Given the description of an element on the screen output the (x, y) to click on. 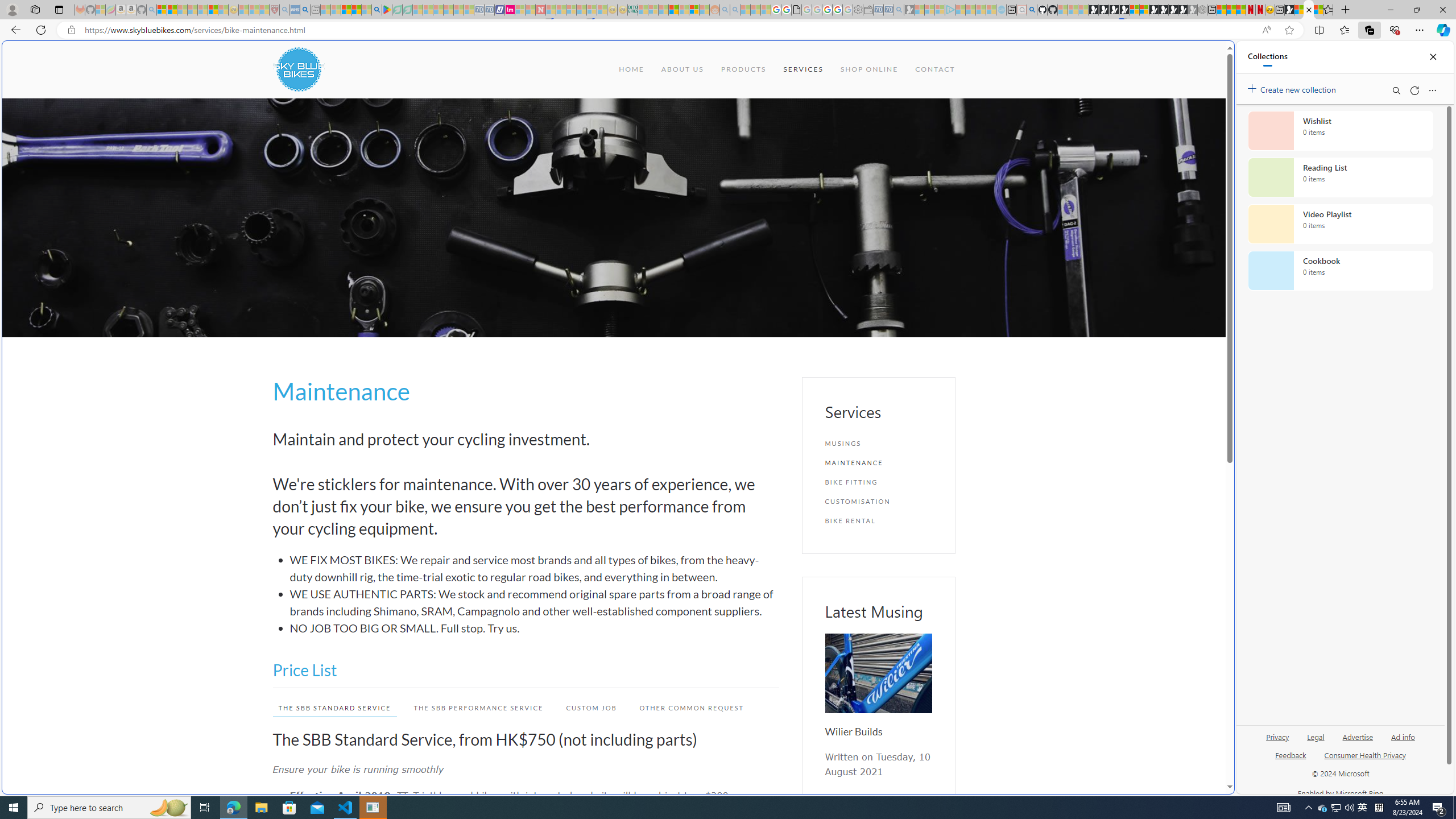
Video Playlist collection, 0 items (1339, 223)
utah sues federal government - Search (304, 9)
CONTACT (935, 68)
Bluey: Let's Play! - Apps on Google Play (387, 9)
Services - Maintenance | Sky Blue Bikes - Sky Blue Bikes (1307, 9)
